Given the description of an element on the screen output the (x, y) to click on. 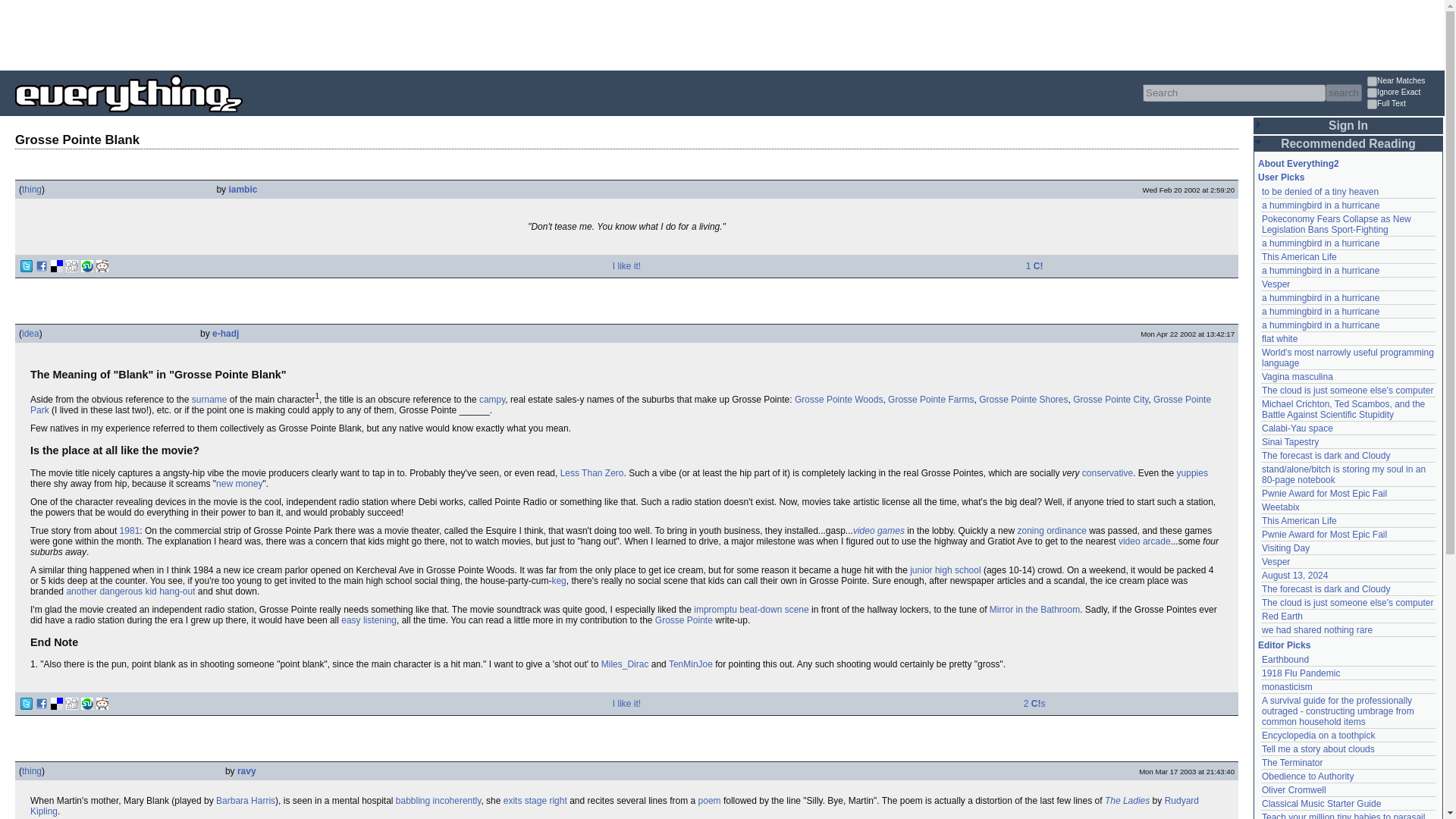
1 (1372, 92)
search (1342, 92)
Grosse Pointe Shores (1022, 398)
iambic (242, 189)
idea (30, 333)
Grosse Pointe City (1110, 398)
1 users found this writeup COOL (1034, 266)
TenMinJoe (690, 664)
keg (558, 580)
search (1342, 92)
